Given the description of an element on the screen output the (x, y) to click on. 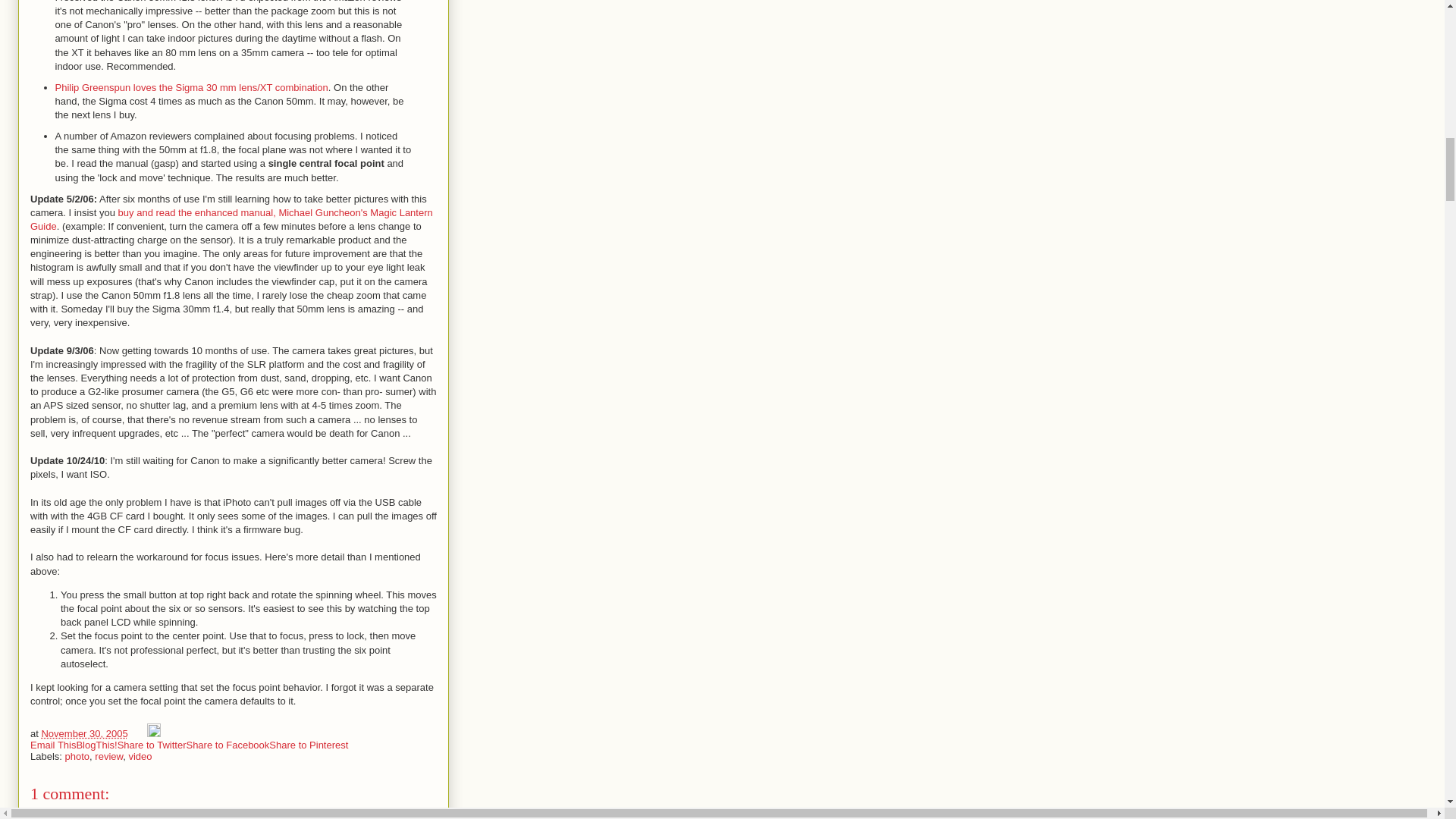
Share to Twitter (151, 745)
Share to Twitter (151, 745)
photo (77, 756)
Email This (52, 745)
review (108, 756)
Edit Post (153, 733)
BlogThis! (95, 745)
Share to Pinterest (308, 745)
Share to Pinterest (308, 745)
Email Post (139, 733)
permanent link (84, 733)
BlogThis! (95, 745)
Share to Facebook (227, 745)
Email This (52, 745)
